Given the description of an element on the screen output the (x, y) to click on. 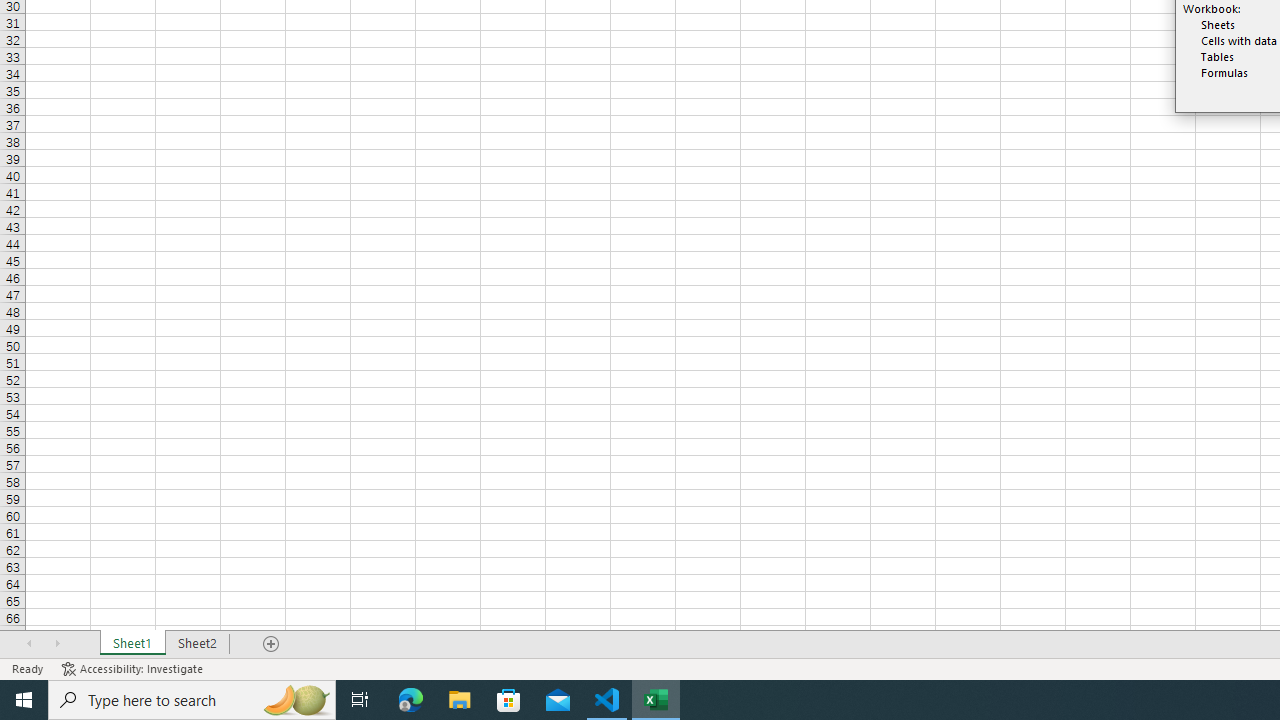
Microsoft Store (509, 699)
Scroll Right (57, 644)
Start (24, 699)
Add Sheet (271, 644)
Sheet2 (197, 644)
Excel - 1 running window (656, 699)
Sheet1 (132, 644)
Accessibility Checker Accessibility: Investigate (134, 668)
Scroll Left (29, 644)
File Explorer (460, 699)
Task View (359, 699)
Search highlights icon opens search home window (295, 699)
Type here to search (191, 699)
Visual Studio Code - 1 running window (607, 699)
